Given the description of an element on the screen output the (x, y) to click on. 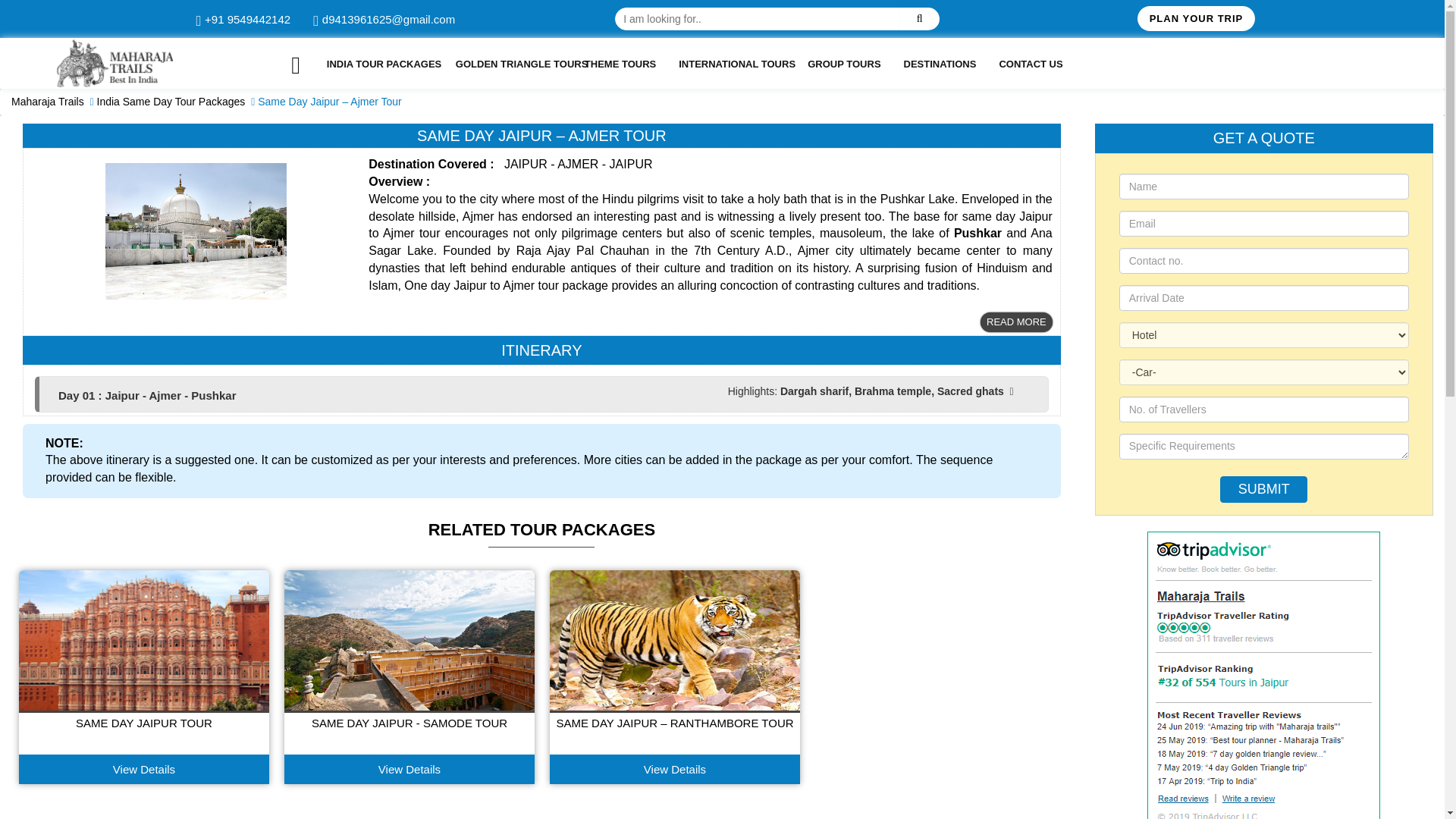
GOLDEN TRIANGLE TOURS (508, 64)
PLAN YOUR TRIP (1196, 18)
INDIA TOUR PACKAGES (379, 64)
